Given the description of an element on the screen output the (x, y) to click on. 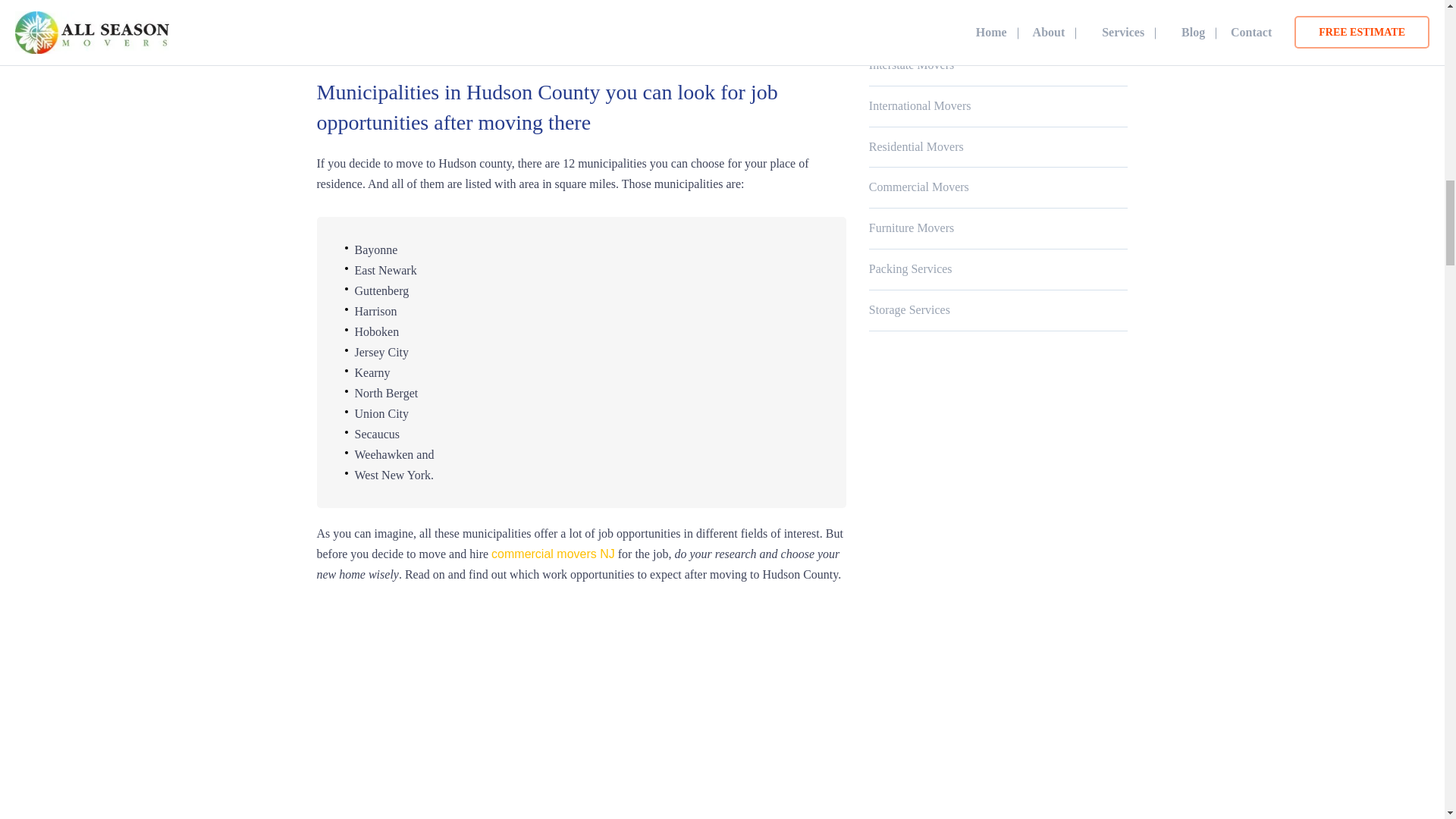
commercial movers NJ (553, 553)
